Given the description of an element on the screen output the (x, y) to click on. 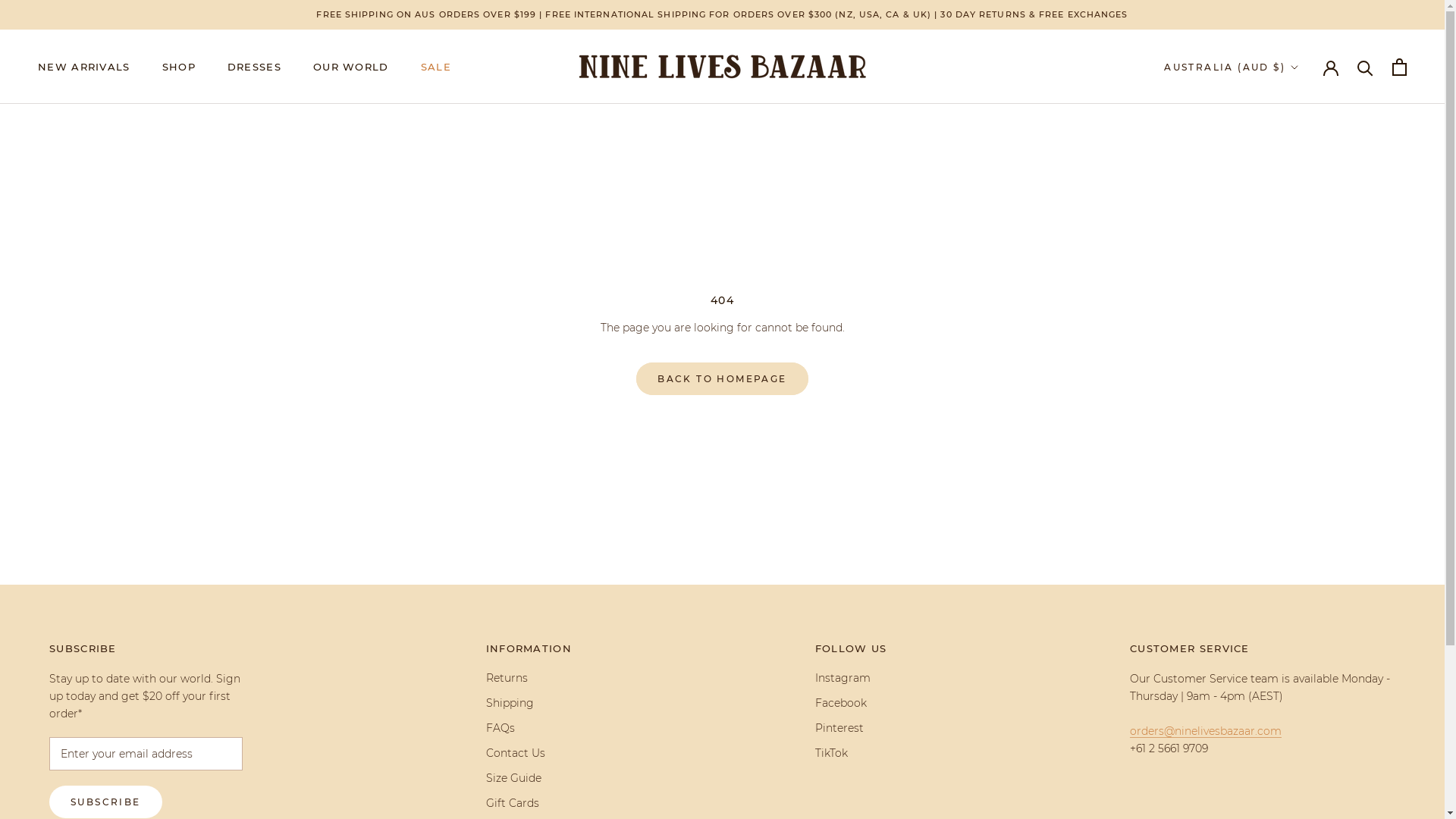
BG Element type: text (1286, 242)
FR Element type: text (1286, 527)
GL Element type: text (1286, 628)
DRESSES
DRESSES Element type: text (254, 66)
CN Element type: text (1286, 344)
Instagram Element type: text (851, 678)
OUR WORLD Element type: text (351, 66)
AT Element type: text (1286, 141)
GI Element type: text (1286, 587)
IS Element type: text (1286, 709)
GR Element type: text (1286, 608)
NEW ARRIVALS
NEW ARRIVALS Element type: text (83, 66)
SALE
SALE Element type: text (435, 66)
Facebook Element type: text (851, 703)
Gift Cards Element type: text (528, 803)
SHOP
SHOP Element type: text (178, 66)
orders@ninelivesbazaar.com Element type: text (1205, 730)
FI Element type: text (1286, 506)
Returns Element type: text (528, 678)
BO Element type: text (1286, 181)
EE Element type: text (1286, 486)
KH Element type: text (1286, 263)
HK Element type: text (1286, 669)
GG Element type: text (1286, 649)
IE Element type: text (1286, 771)
AU Element type: text (1286, 120)
Size Guide Element type: text (528, 778)
CO Element type: text (1286, 364)
Contact Us Element type: text (528, 753)
BE Element type: text (1286, 161)
Pinterest Element type: text (851, 728)
BR Element type: text (1286, 222)
GE Element type: text (1286, 547)
AUSTRALIA (AUD $) Element type: text (1231, 67)
HU Element type: text (1286, 689)
TikTok Element type: text (851, 753)
CA Element type: text (1286, 283)
ID Element type: text (1286, 750)
AD Element type: text (1286, 100)
EC Element type: text (1286, 466)
HR Element type: text (1286, 384)
IL Element type: text (1286, 791)
CL Element type: text (1286, 323)
BQ Element type: text (1286, 303)
Shipping Element type: text (528, 703)
FAQs Element type: text (528, 728)
DE Element type: text (1286, 568)
CZ Element type: text (1286, 425)
SUBSCRIBE Element type: text (105, 801)
DK Element type: text (1286, 446)
CY Element type: text (1286, 405)
BA Element type: text (1286, 201)
IN Element type: text (1286, 730)
BACK TO HOMEPAGE Element type: text (721, 378)
